Given the description of an element on the screen output the (x, y) to click on. 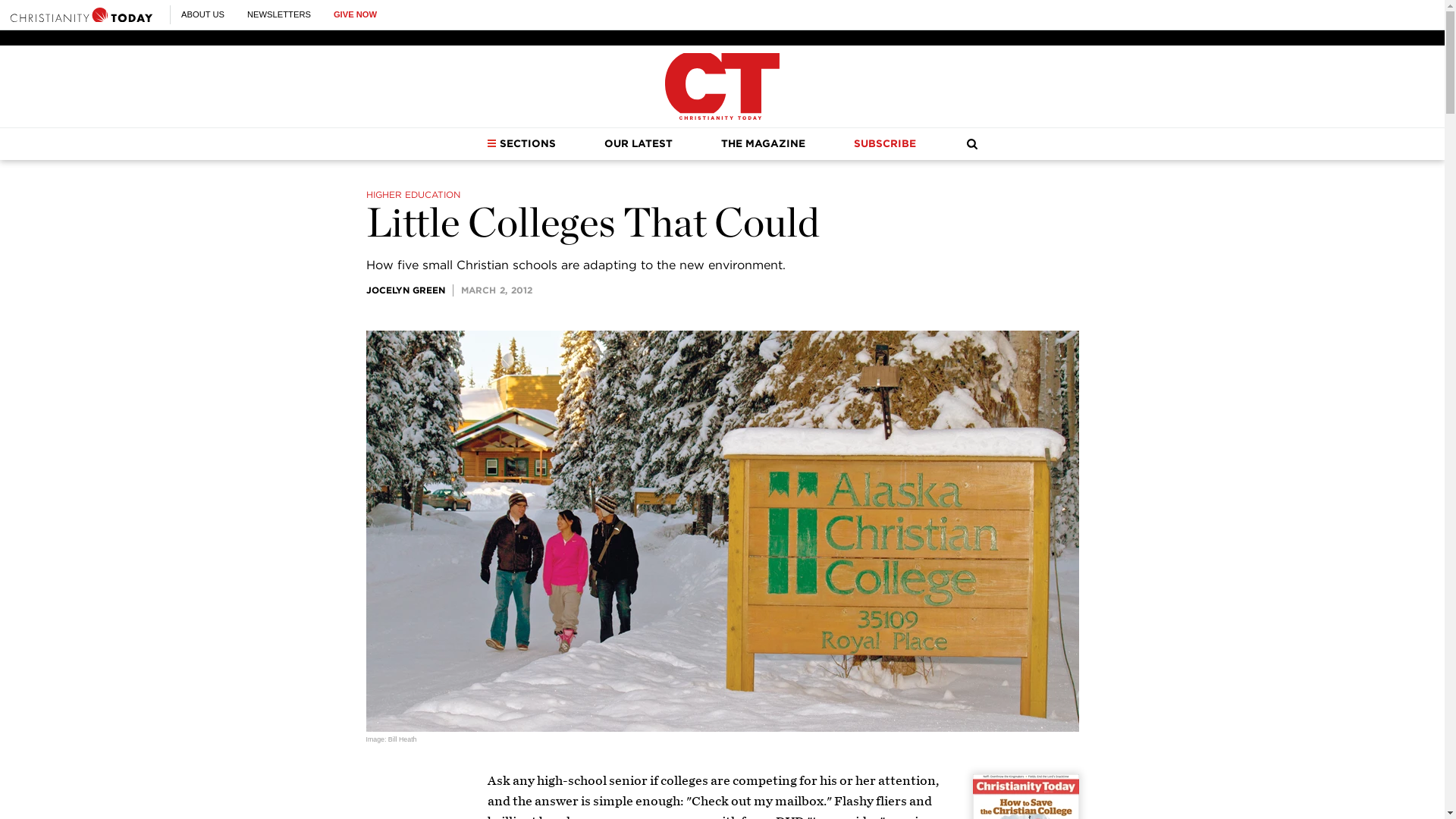
SECTIONS (521, 143)
GIVE NOW (355, 14)
Christianity Today (721, 86)
Christianity Today (81, 14)
NEWSLETTERS (278, 14)
Sections Dropdown (491, 143)
ABOUT US (202, 14)
